Given the description of an element on the screen output the (x, y) to click on. 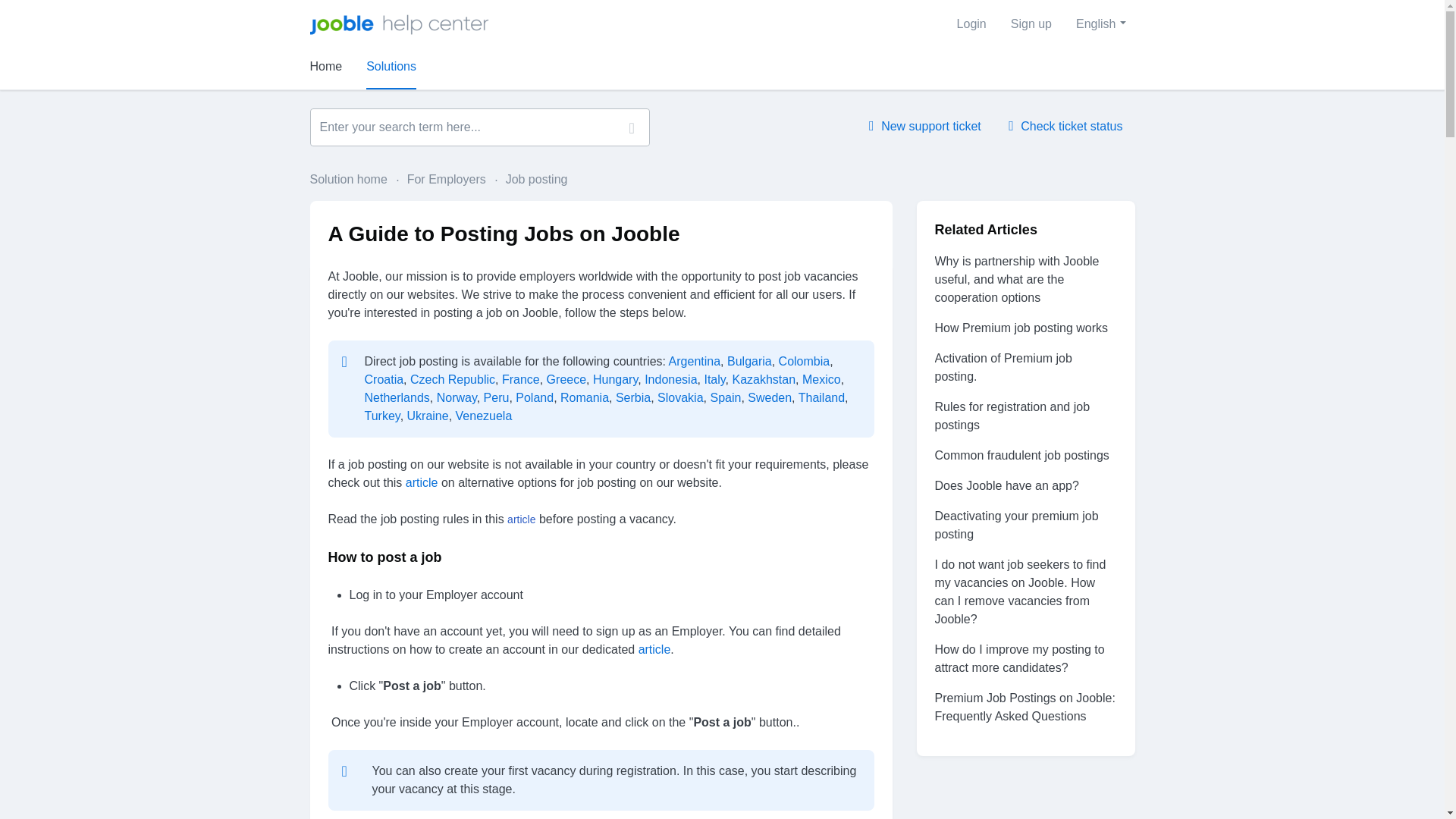
Login (971, 23)
Greece (566, 379)
New support ticket (924, 126)
Indonesia (671, 379)
Check ticket status (1064, 126)
Croatia (383, 379)
For Employers (440, 178)
Solution home (349, 178)
Argentina (694, 360)
Czech Republic (452, 379)
